Given the description of an element on the screen output the (x, y) to click on. 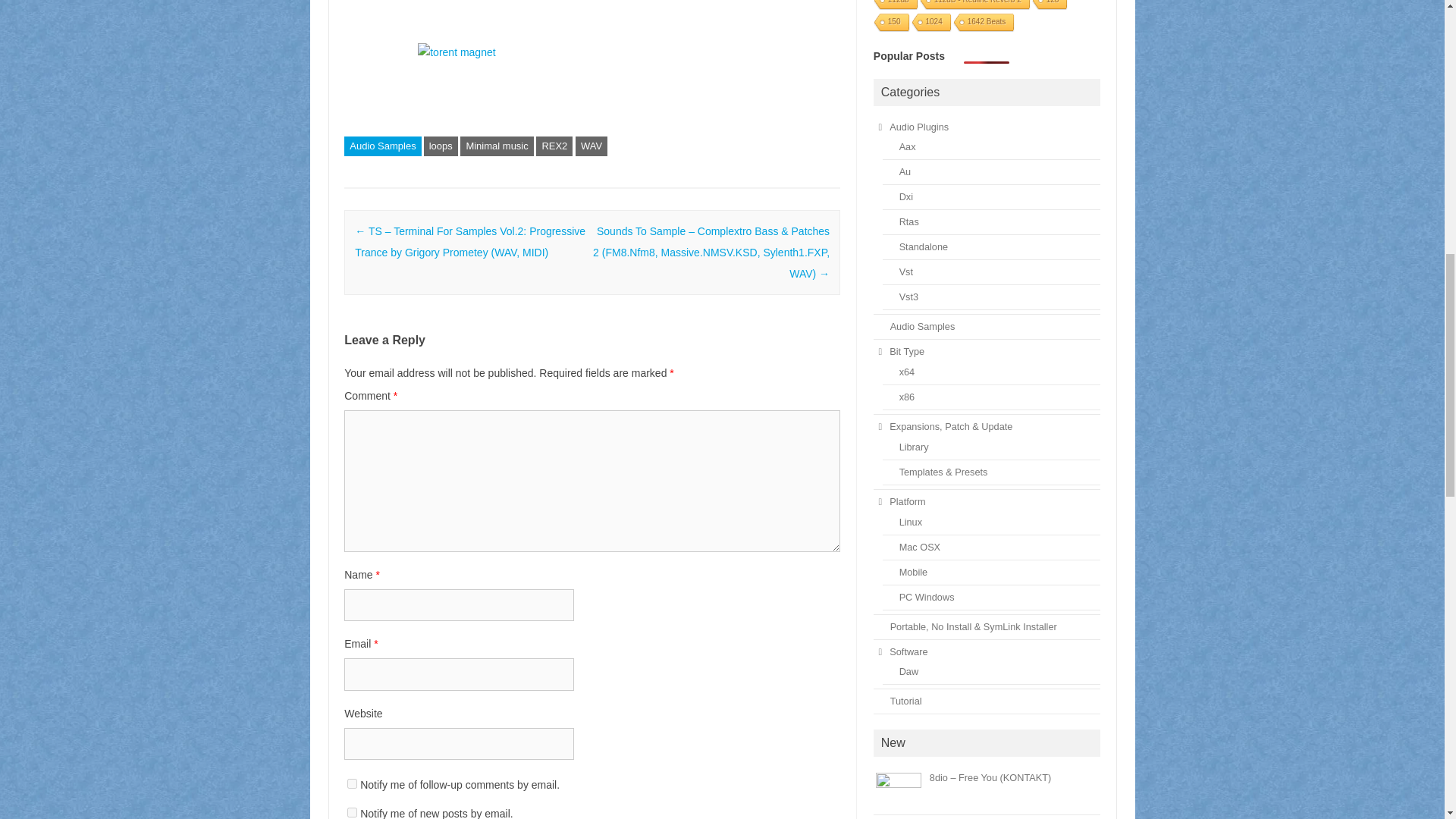
Audio Samples (381, 146)
subscribe (351, 783)
subscribe (351, 812)
REX2 (553, 146)
WAV (591, 146)
loops (440, 146)
Minimal music (496, 146)
